Given the description of an element on the screen output the (x, y) to click on. 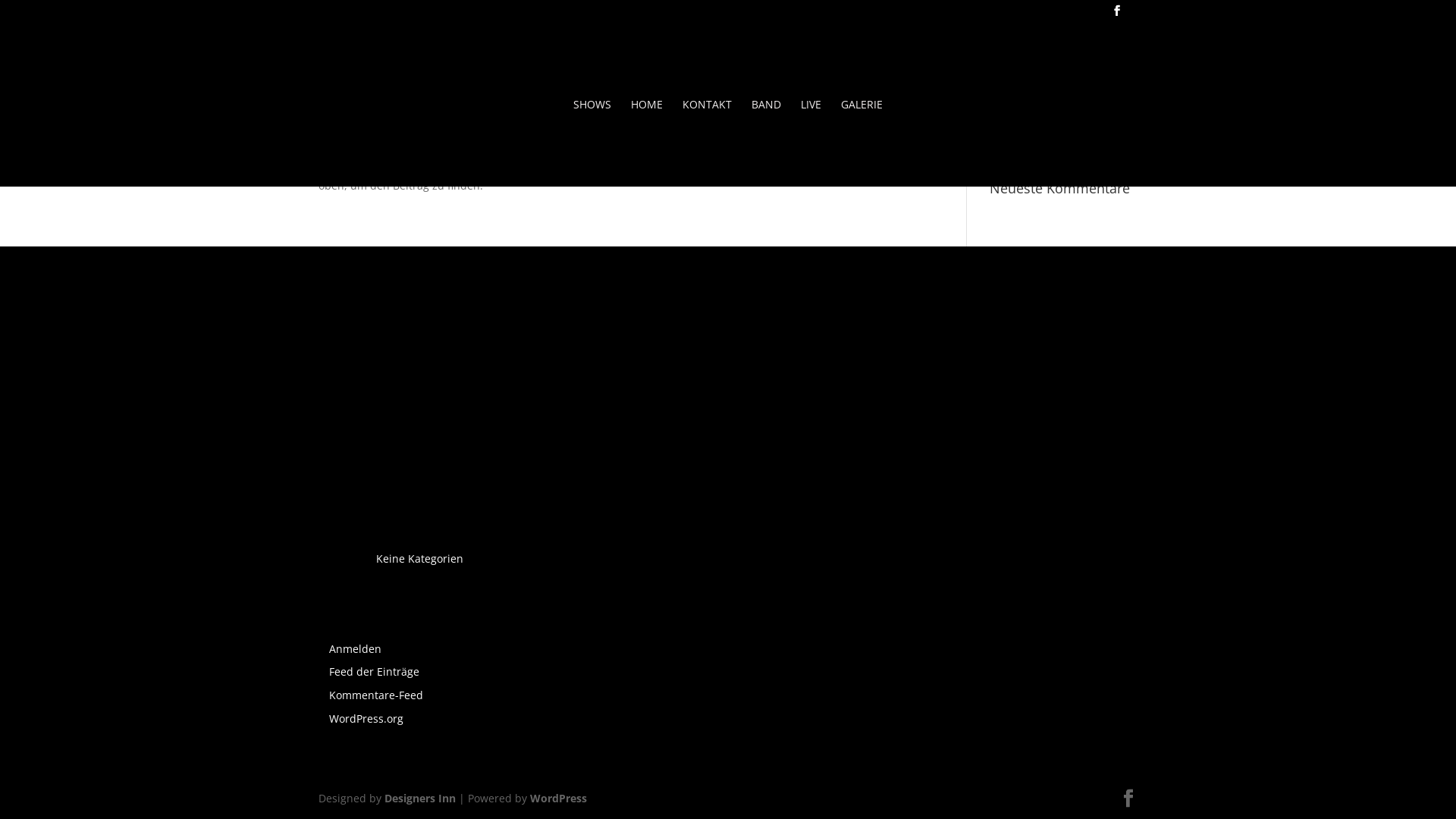
GALERIE Element type: text (861, 142)
HOME Element type: text (646, 142)
LIVE Element type: text (810, 142)
KONTAKT Element type: text (706, 142)
Kommentare-Feed Element type: text (376, 694)
WordPress Element type: text (558, 797)
Designers Inn Element type: text (419, 797)
SHOWS Element type: text (592, 142)
Suche Element type: text (1113, 143)
Anmelden Element type: text (355, 648)
BAND Element type: text (766, 142)
WordPress.org Element type: text (366, 718)
